Given the description of an element on the screen output the (x, y) to click on. 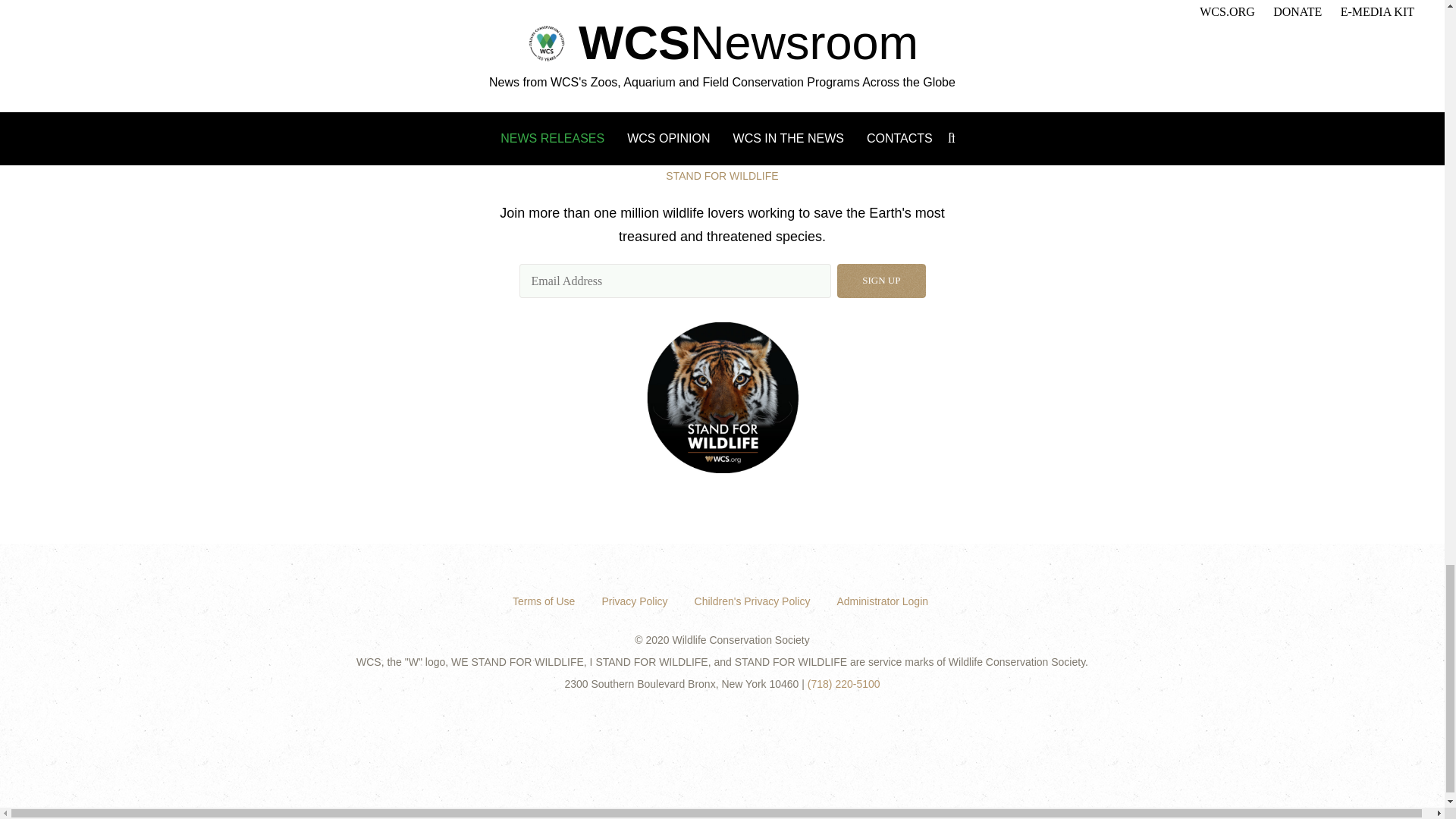
newsroom.wcs.org (346, 54)
Listen to the WCS Wild Audio podcast HERE (597, 65)
